Given the description of an element on the screen output the (x, y) to click on. 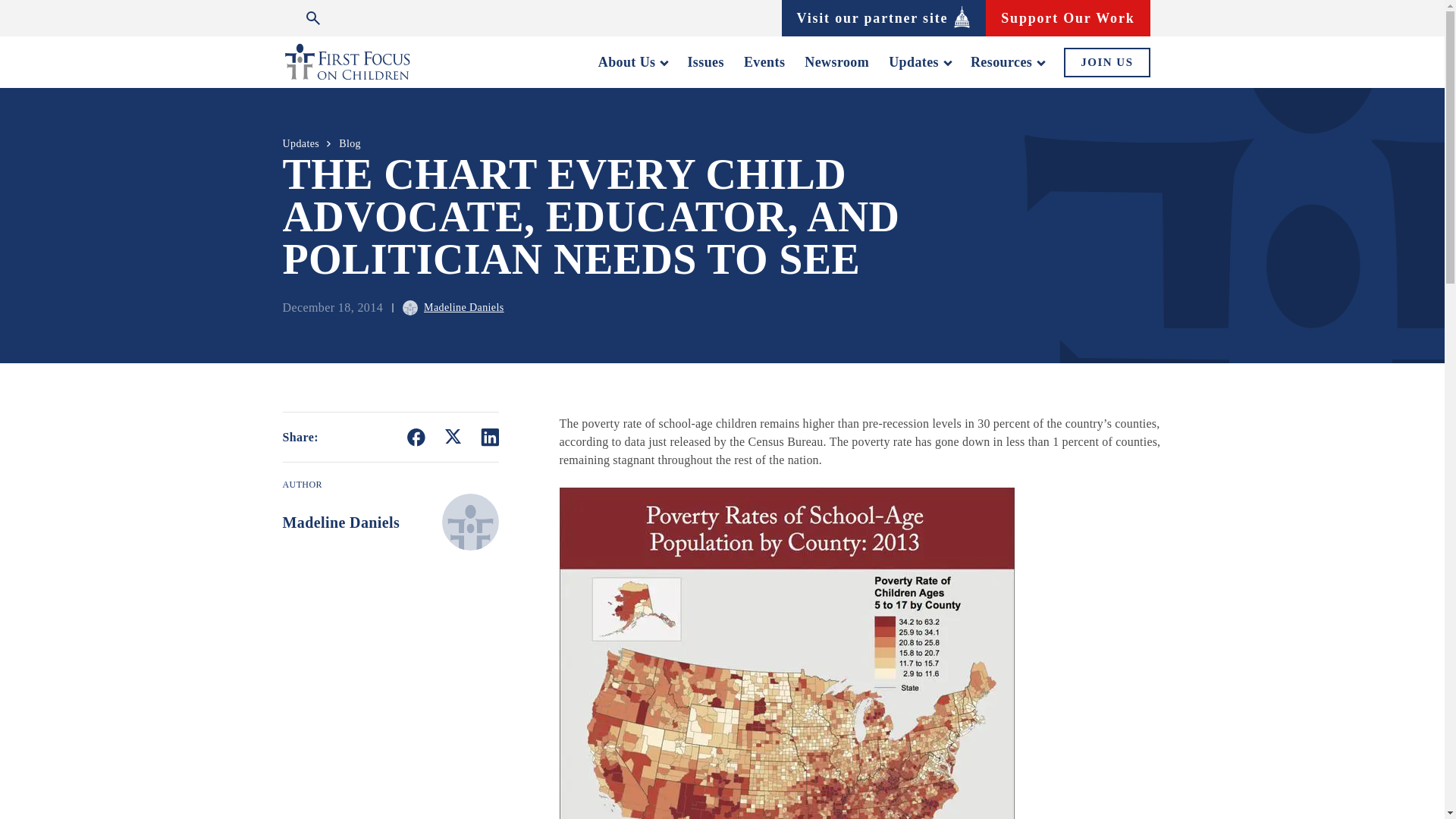
Issues (705, 61)
Support Our Work (1067, 17)
Newsroom (837, 61)
About Us (633, 61)
Updates (919, 61)
Resources (1007, 61)
JOIN US (1107, 61)
Visit our partner site (883, 17)
Events (764, 61)
